Given the description of an element on the screen output the (x, y) to click on. 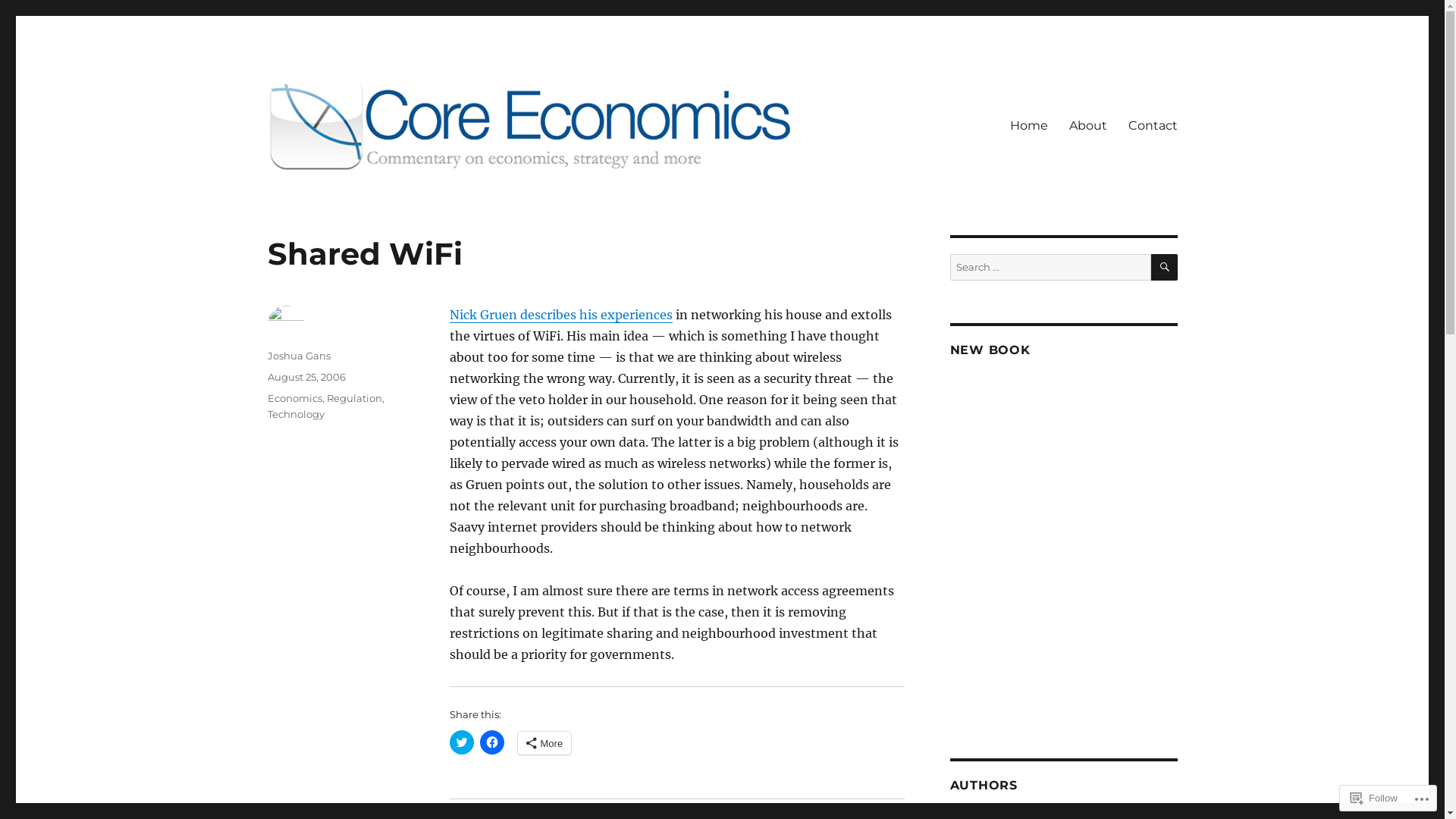
Click to share on Facebook (Opens in new window) Element type: text (491, 742)
Click to share on Twitter (Opens in new window) Element type: text (460, 742)
Joshua Gans Element type: text (297, 355)
More Element type: text (544, 742)
August 25, 2006 Element type: text (305, 376)
Economics Element type: text (293, 398)
About Element type: text (1087, 125)
Core Economics Element type: text (355, 194)
Follow Element type: text (1373, 797)
Technology Element type: text (294, 413)
Nick Gruen describes his experiences Element type: text (559, 314)
Contact Element type: text (1152, 125)
Home Element type: text (1028, 125)
Regulation Element type: text (353, 398)
